Given the description of an element on the screen output the (x, y) to click on. 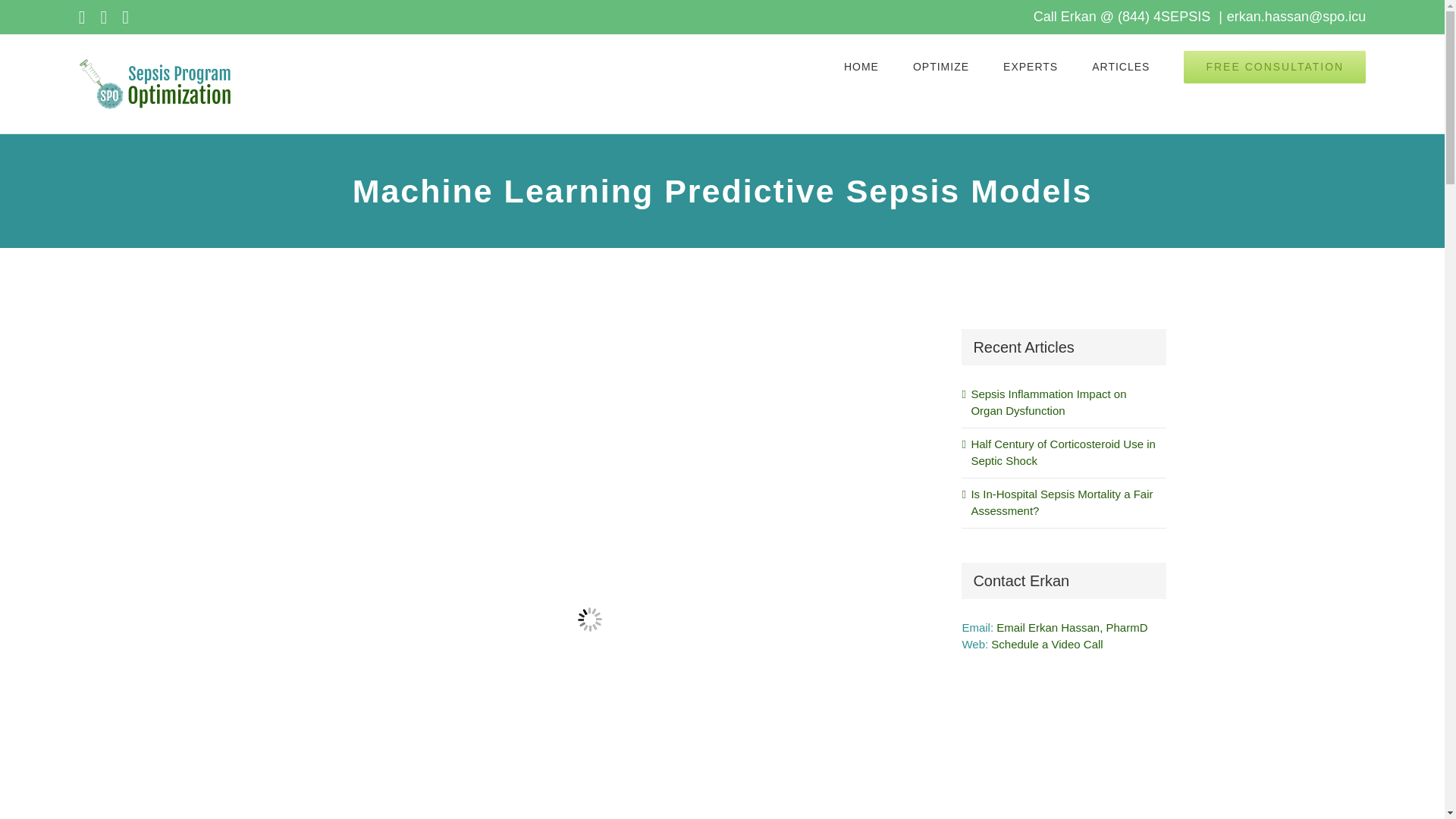
FREE CONSULTATION (1274, 66)
ARTICLES (1121, 66)
